Given the description of an element on the screen output the (x, y) to click on. 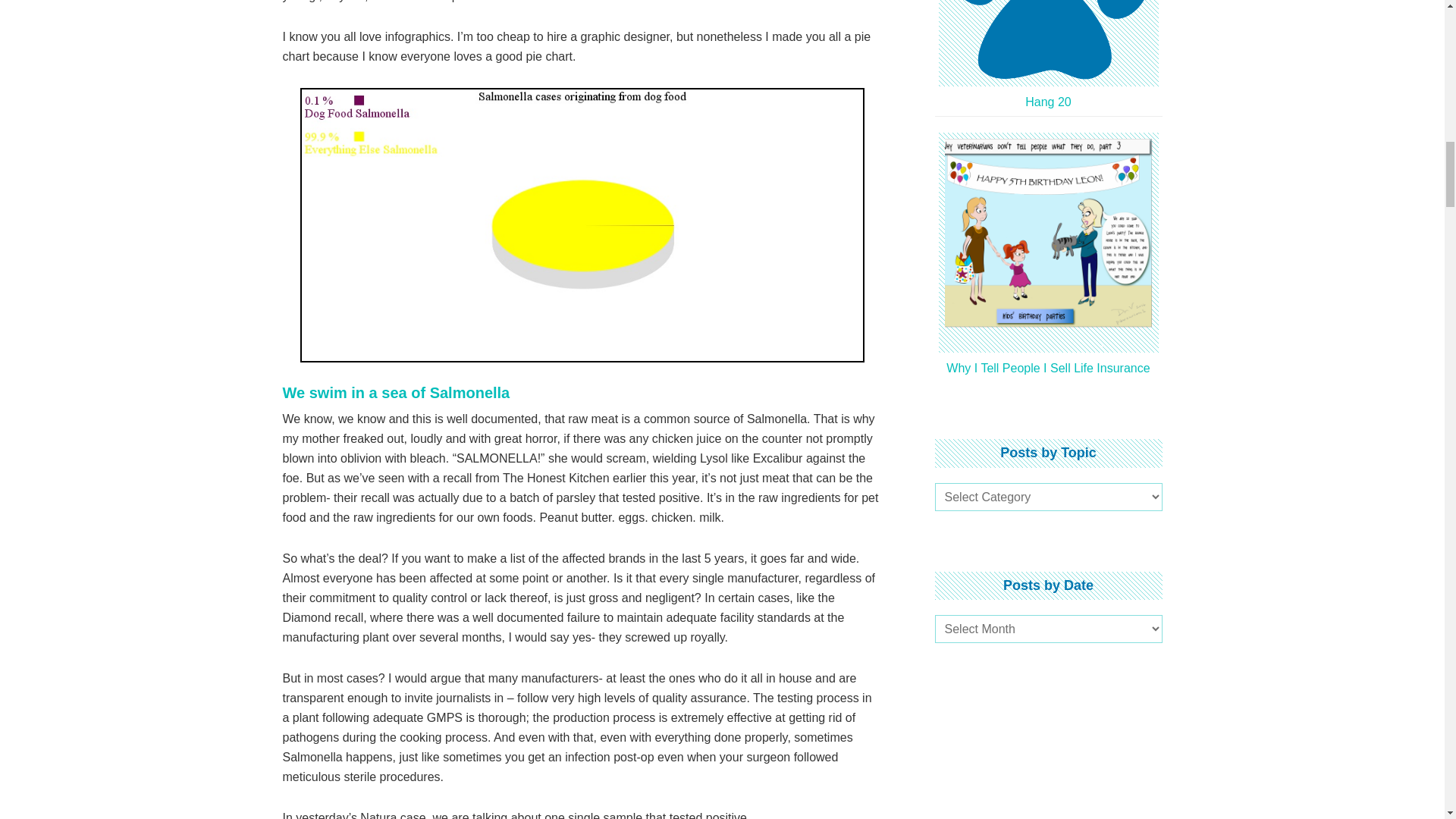
Hang 20 (1048, 82)
Why I Tell People I Sell Life Insurance (1048, 348)
